Given the description of an element on the screen output the (x, y) to click on. 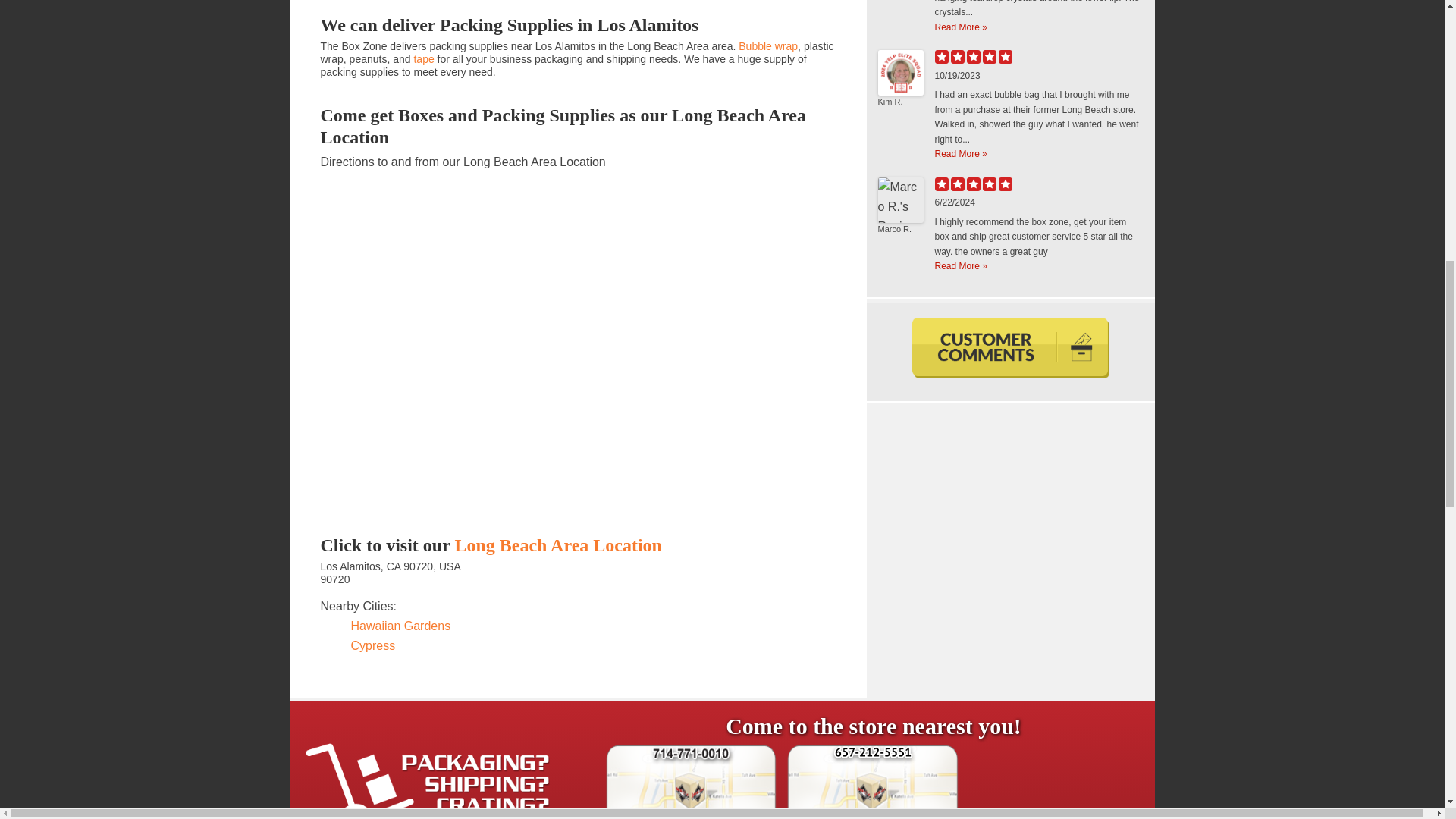
5.0 star rating (972, 56)
5.0 star rating (972, 183)
